Given the description of an element on the screen output the (x, y) to click on. 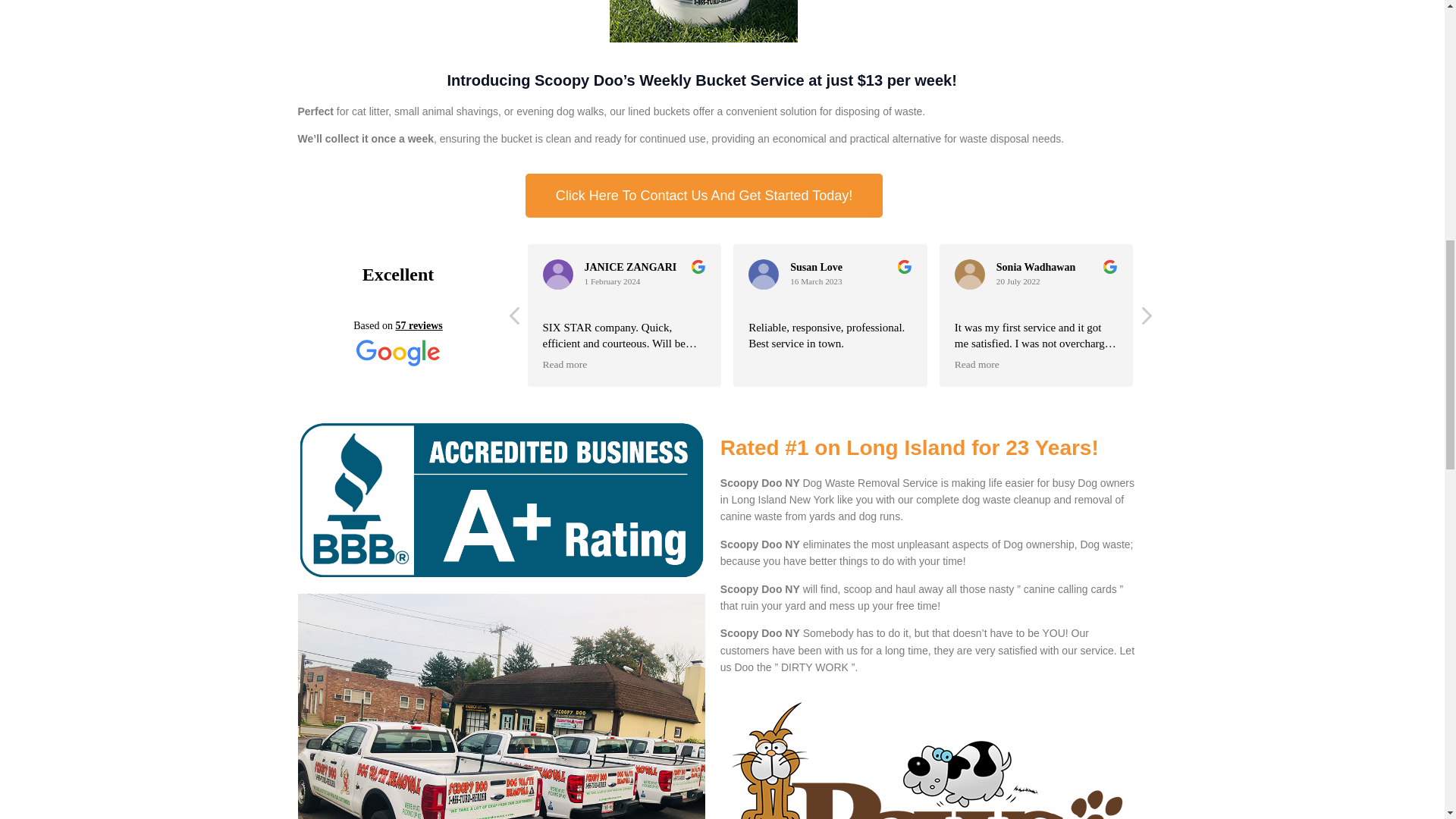
57 reviews (418, 325)
Click Here To Contact Us And Get Started Today! (704, 195)
